Given the description of an element on the screen output the (x, y) to click on. 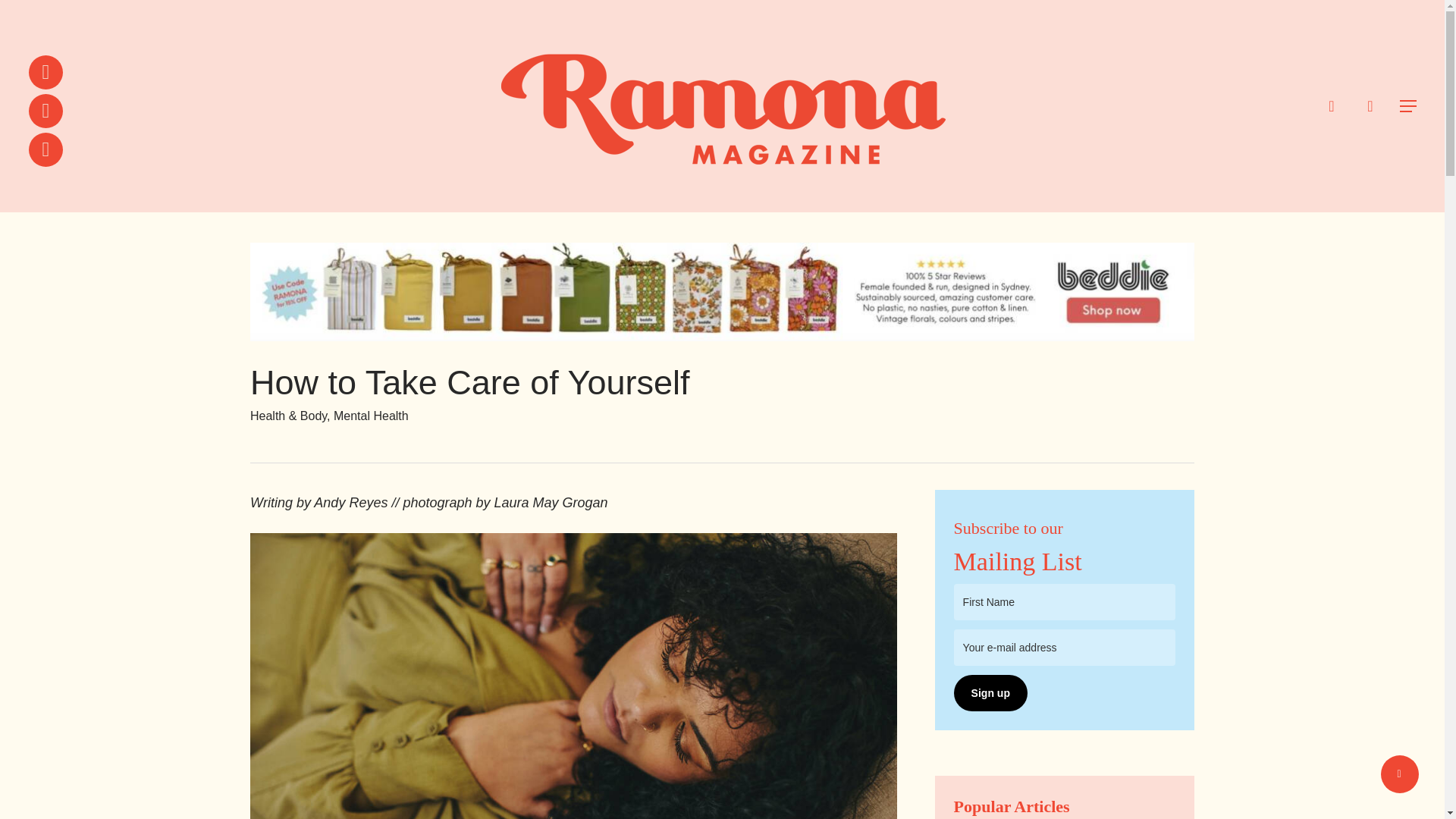
Mental Health (371, 415)
Sign up (990, 692)
Menu (1408, 106)
search (1331, 106)
instagram (45, 149)
facebook (45, 110)
Sign up (990, 692)
twitter (45, 72)
